Given the description of an element on the screen output the (x, y) to click on. 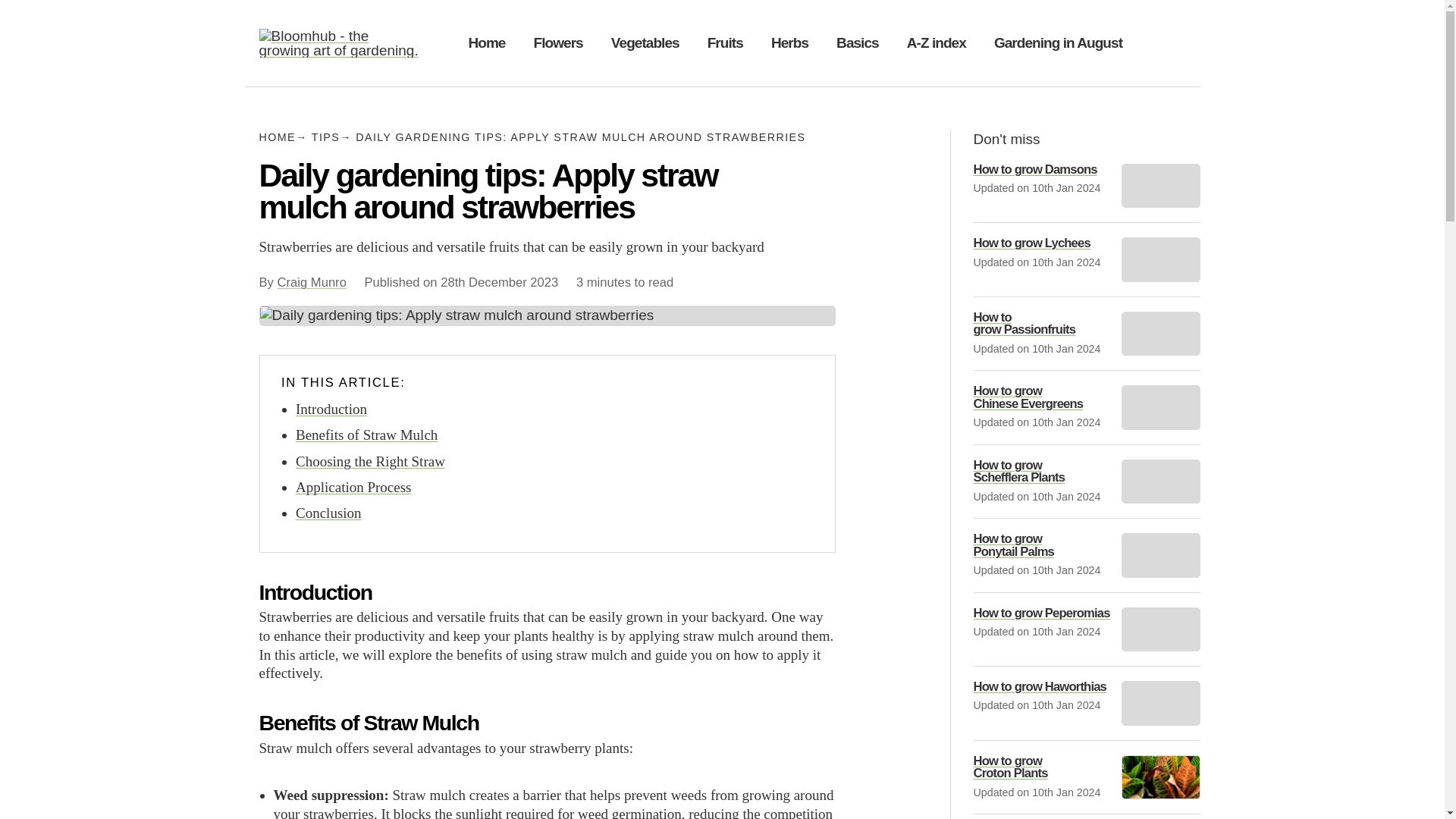
Choosing the Right Straw (370, 461)
Herbs (789, 42)
Vegetables (645, 42)
Benefits of Straw Mulch (366, 434)
TIPS (331, 137)
Application Process (353, 487)
Craig Munro (312, 282)
Fruits (724, 42)
Conclusion (328, 512)
HOME (283, 137)
Flowers (558, 42)
Home (486, 42)
Introduction (330, 408)
Basics (857, 42)
